Given the description of an element on the screen output the (x, y) to click on. 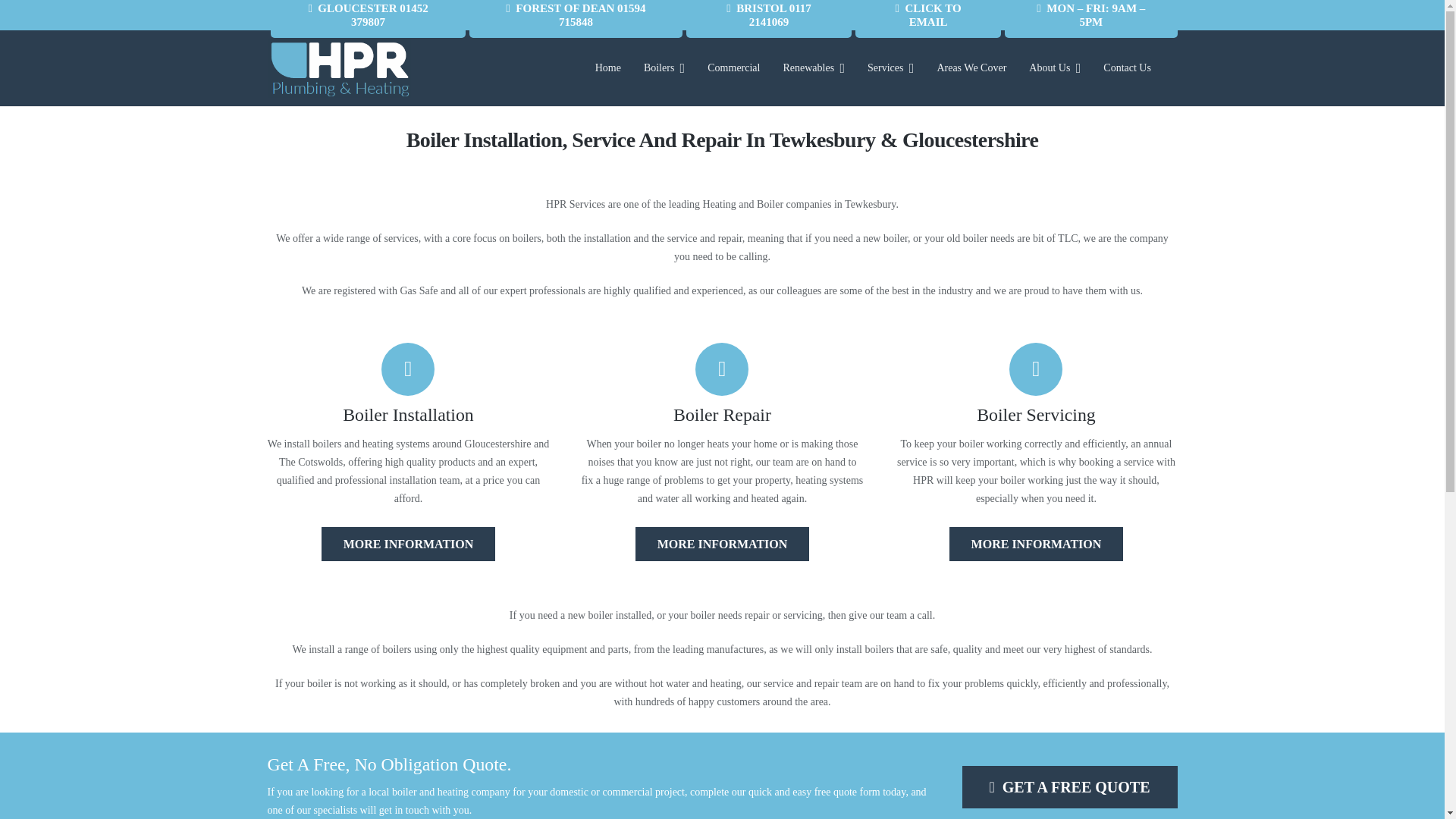
Boiler Repair Tewkesbury (721, 544)
Boiler Servicing Tewkesbury (1035, 544)
GET A FREE QUOTE (1068, 786)
CLICK TO EMAIL (928, 18)
MORE INFORMATION (1035, 542)
FOREST OF DEAN 01594 715848 (575, 18)
GLOUCESTER 01452 379807 (367, 18)
Commercial (733, 68)
BRISTOL 0117 2141069 (768, 18)
MORE INFORMATION (721, 544)
Areas We Cover (970, 68)
Boiler Installation Tewkesbury (408, 544)
Renewables (813, 68)
Contact Us (1126, 68)
MORE INFORMATION (408, 544)
